Given the description of an element on the screen output the (x, y) to click on. 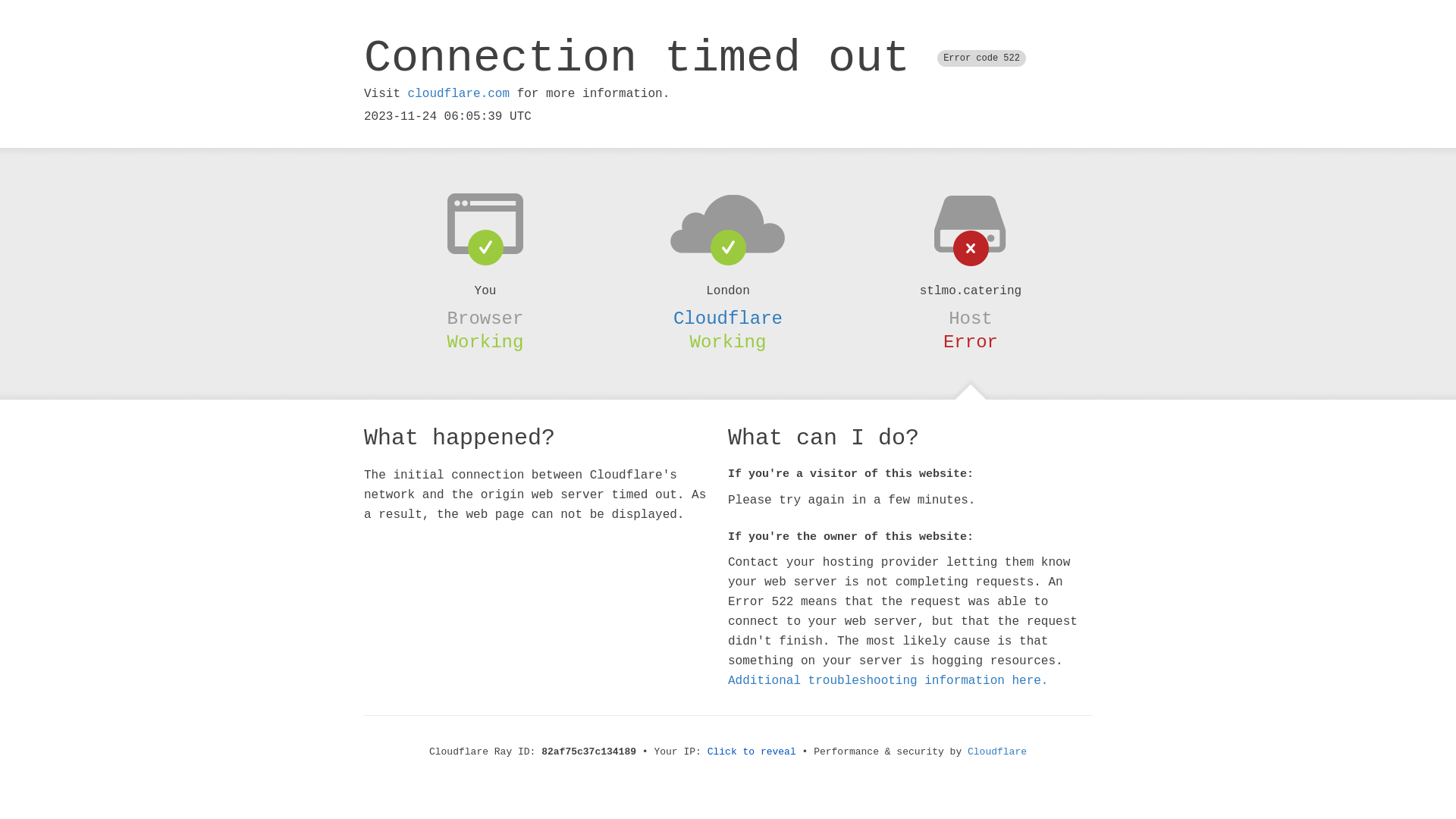
Cloudflare Element type: text (996, 751)
Cloudflare Element type: text (727, 318)
Click to reveal Element type: text (751, 751)
cloudflare.com Element type: text (458, 93)
Additional troubleshooting information here. Element type: text (888, 680)
